Given the description of an element on the screen output the (x, y) to click on. 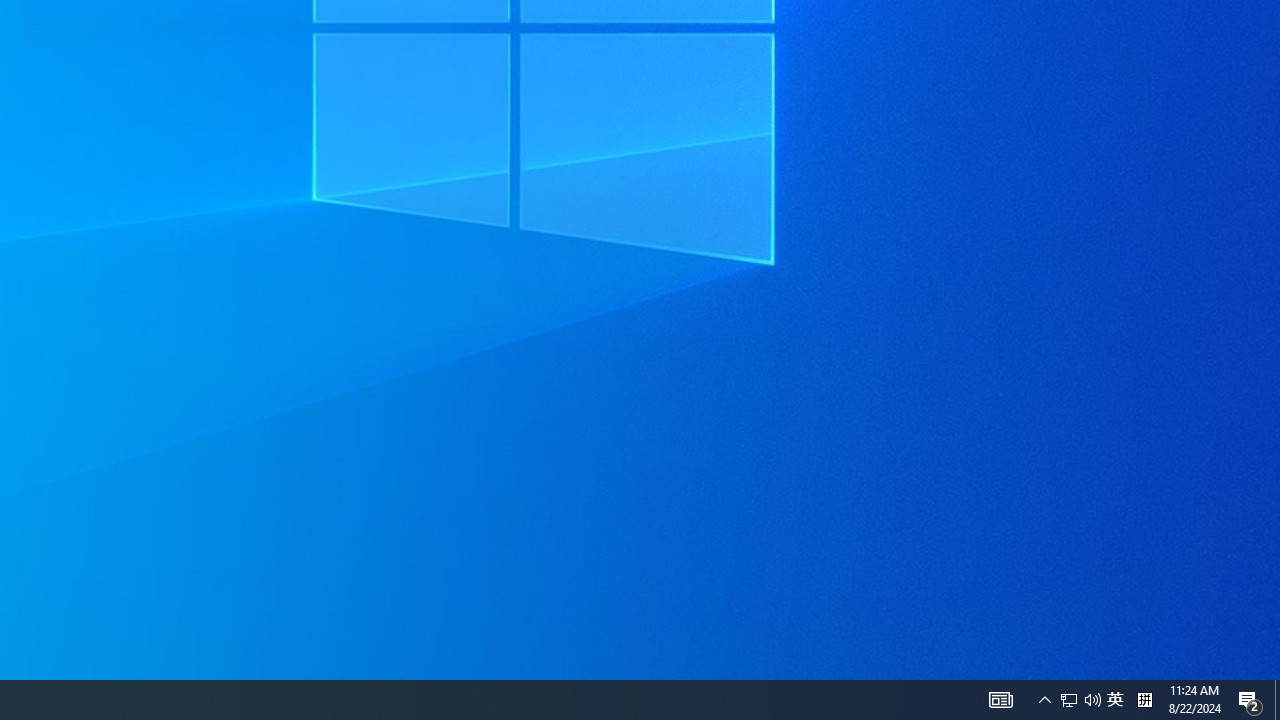
AutomationID: 4105 (1115, 699)
Tray Input Indicator - Chinese (Simplified, China) (1000, 699)
Action Center, 2 new notifications (1144, 699)
Show desktop (1250, 699)
Notification Chevron (1277, 699)
Q2790: 100% (1044, 699)
User Promoted Notification Area (1092, 699)
